Given the description of an element on the screen output the (x, y) to click on. 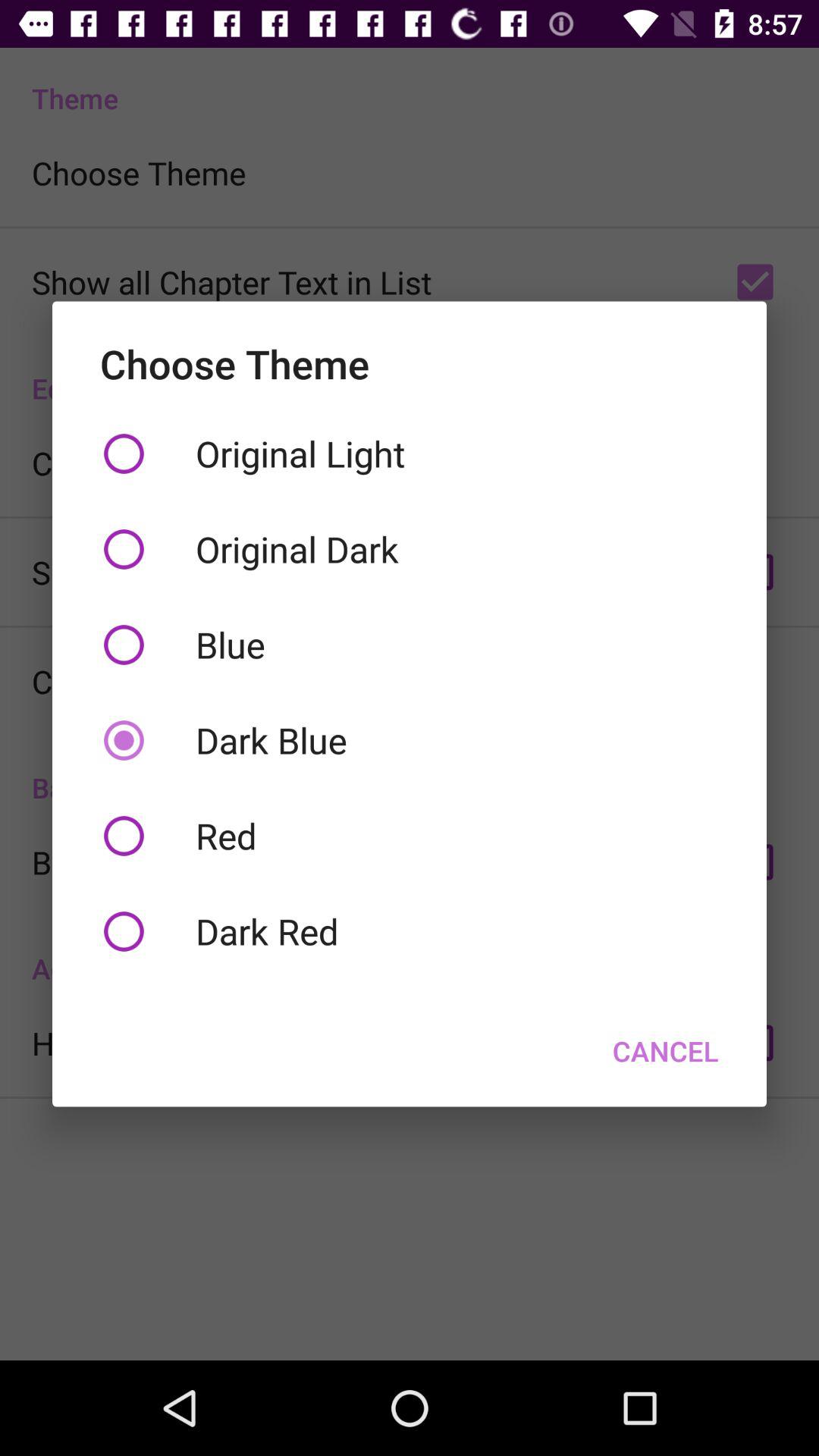
tap the cancel icon (665, 1050)
